Given the description of an element on the screen output the (x, y) to click on. 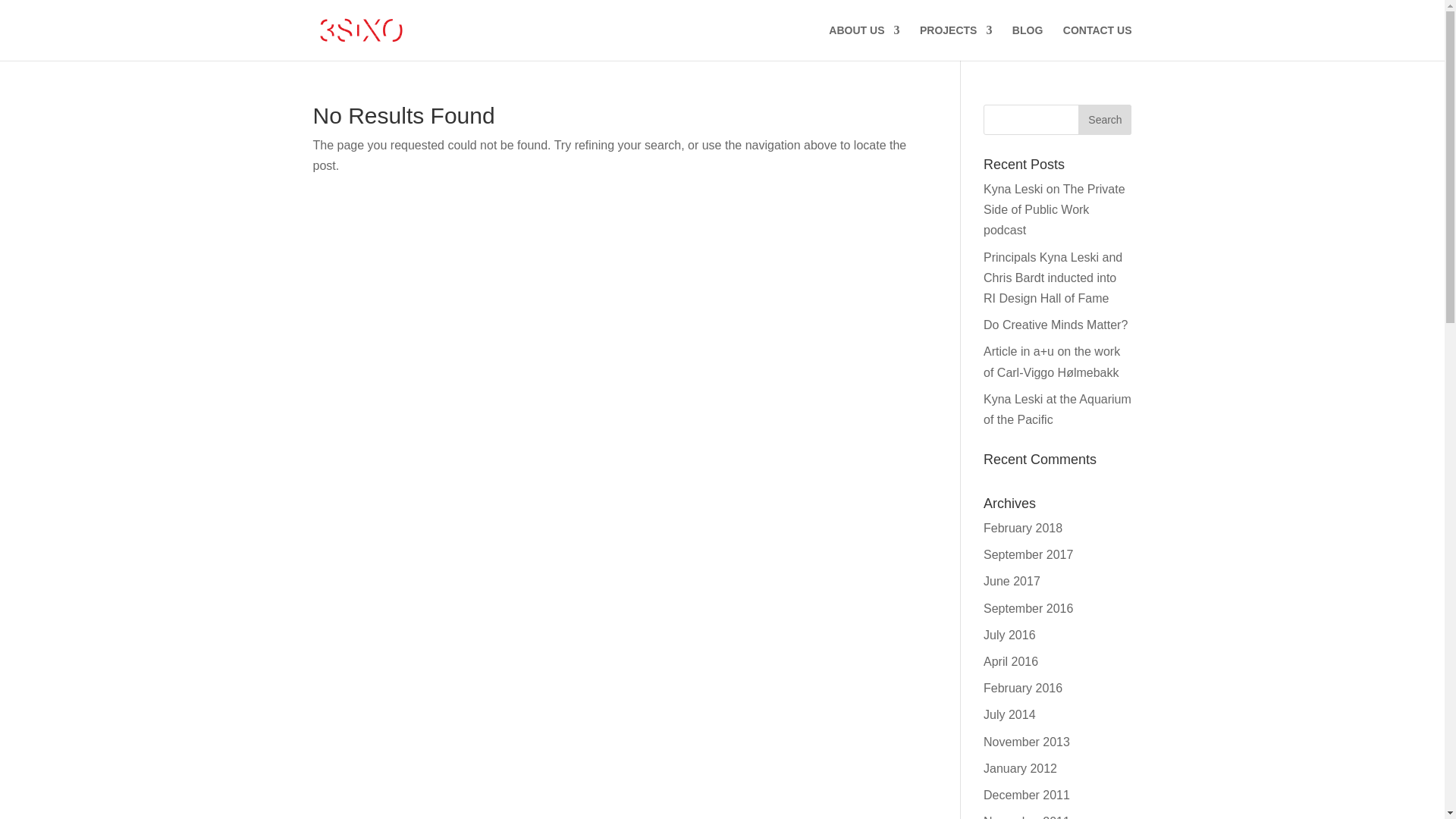
September 2017 Element type: text (1028, 554)
Kyna Leski at the Aquarium of the Pacific Element type: text (1057, 409)
February 2018 Element type: text (1022, 527)
PROJECTS Element type: text (955, 42)
Do Creative Minds Matter? Element type: text (1055, 324)
July 2014 Element type: text (1009, 714)
ABOUT US Element type: text (863, 42)
Kyna Leski on The Private Side of Public Work podcast Element type: text (1053, 209)
September 2016 Element type: text (1028, 608)
July 2016 Element type: text (1009, 634)
January 2012 Element type: text (1020, 768)
December 2011 Element type: text (1026, 794)
June 2017 Element type: text (1011, 580)
BLOG Element type: text (1027, 42)
Search Element type: text (1104, 119)
February 2016 Element type: text (1022, 687)
November 2013 Element type: text (1026, 741)
CONTACT US Element type: text (1097, 42)
April 2016 Element type: text (1010, 661)
